Given the description of an element on the screen output the (x, y) to click on. 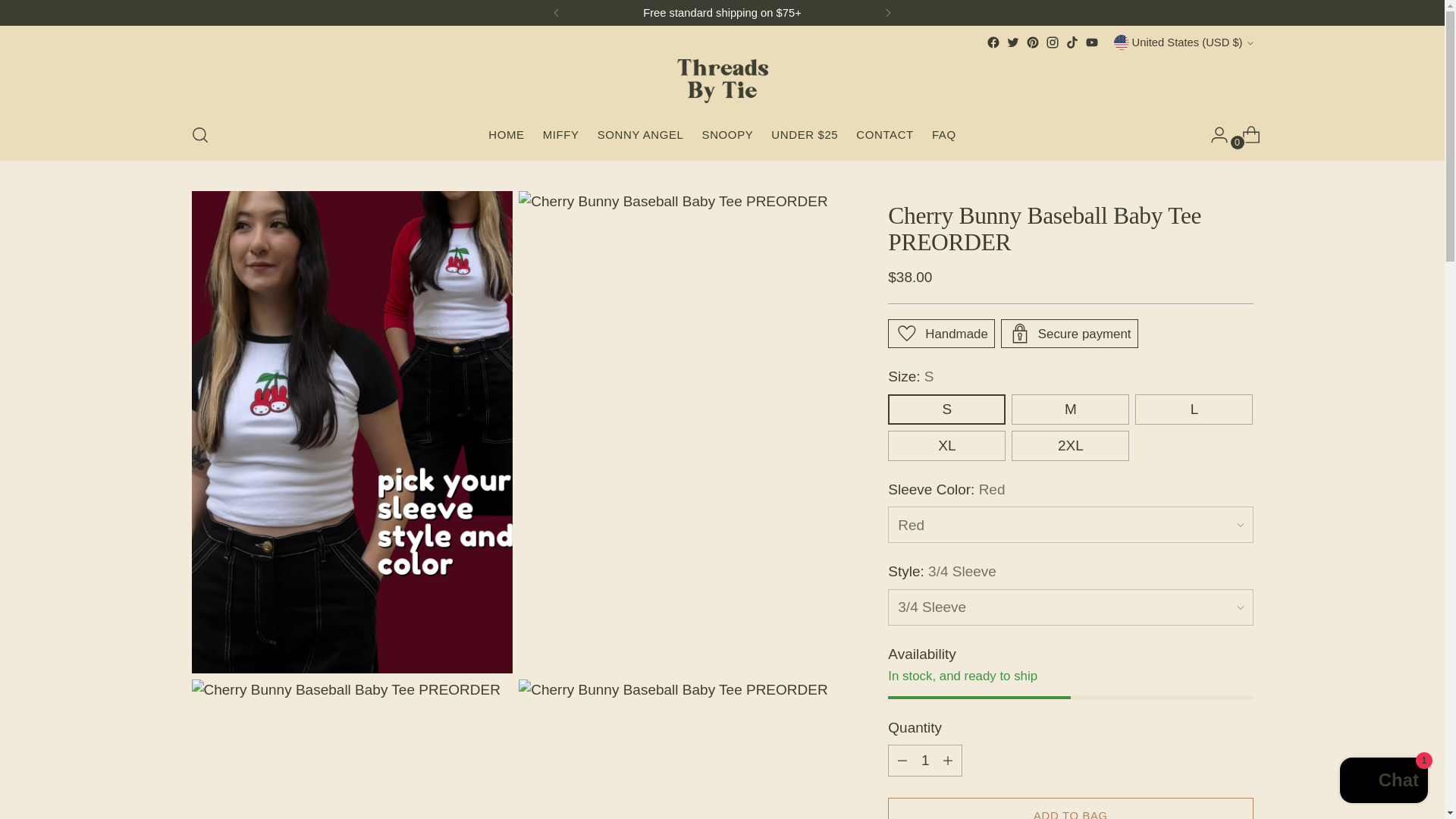
threadsbytie on Instagram (1052, 42)
threadsbytie on Pinterest (1032, 42)
threadsbytie on Facebook (993, 42)
threadsbytie on Tiktok (1071, 42)
threadsbytie on YouTube (1091, 42)
Previous (556, 12)
Next (887, 12)
1 (925, 760)
threadsbytie on Twitter (1013, 42)
